Given the description of an element on the screen output the (x, y) to click on. 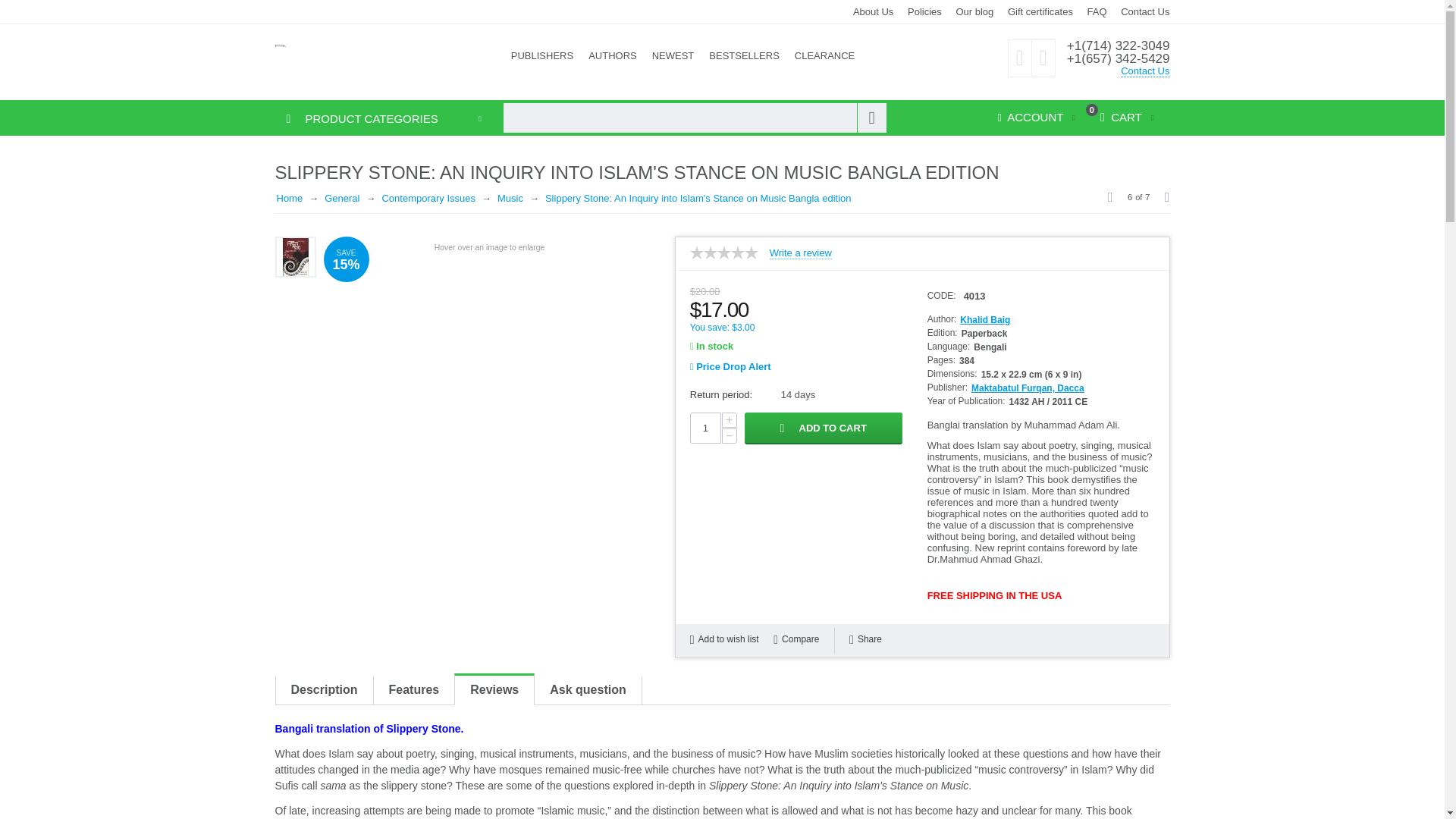
PRODUCT CATEGORIES (356, 118)
Gift certificates (1040, 11)
AUTHORS (612, 55)
Policies (924, 11)
Search products (693, 117)
Search (871, 117)
BESTSELLERS (744, 55)
Contact Us (1145, 11)
FAQ (1096, 11)
Contact Us (1145, 70)
